Given the description of an element on the screen output the (x, y) to click on. 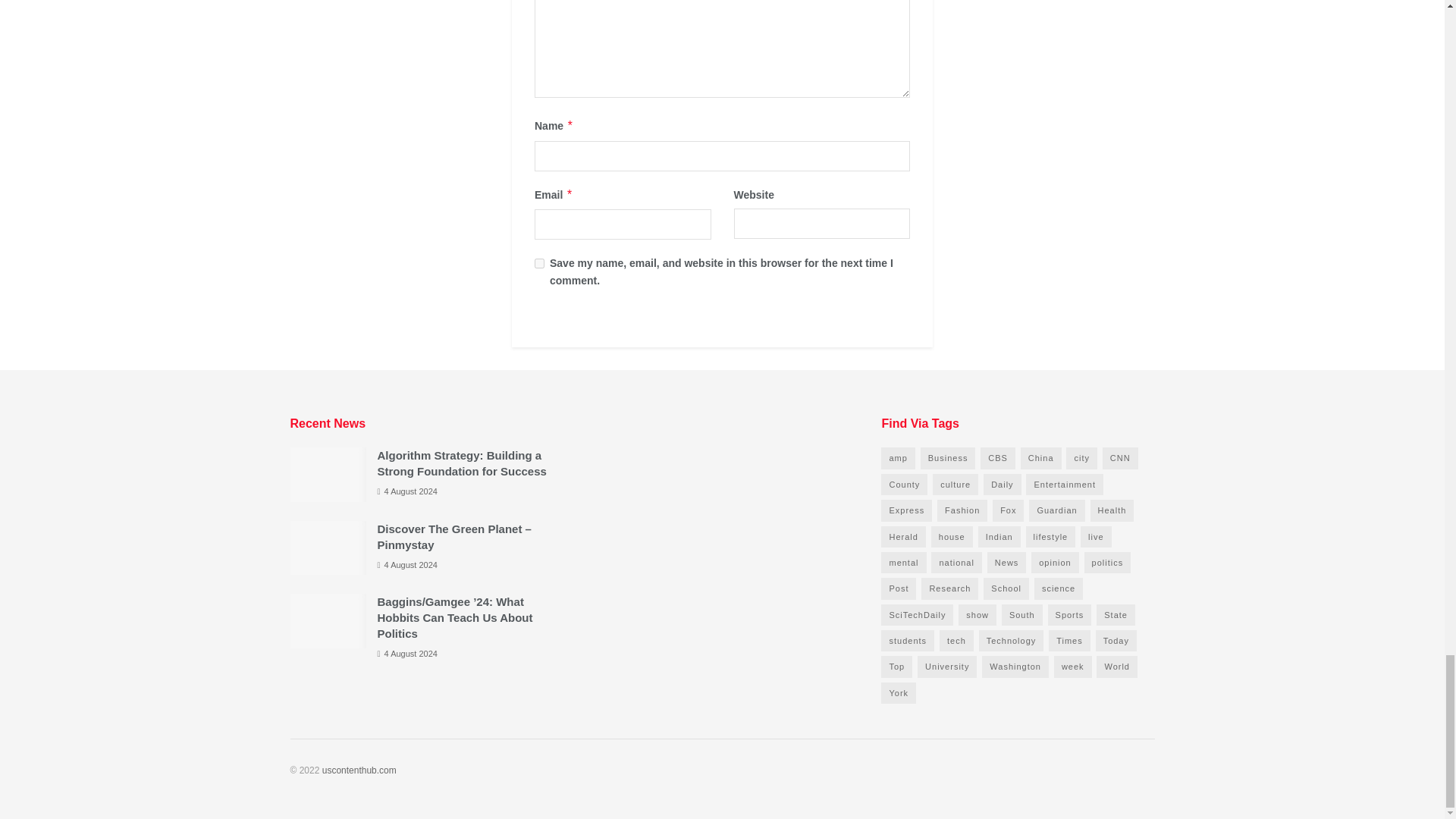
Premium news  (358, 769)
yes (539, 263)
